Given the description of an element on the screen output the (x, y) to click on. 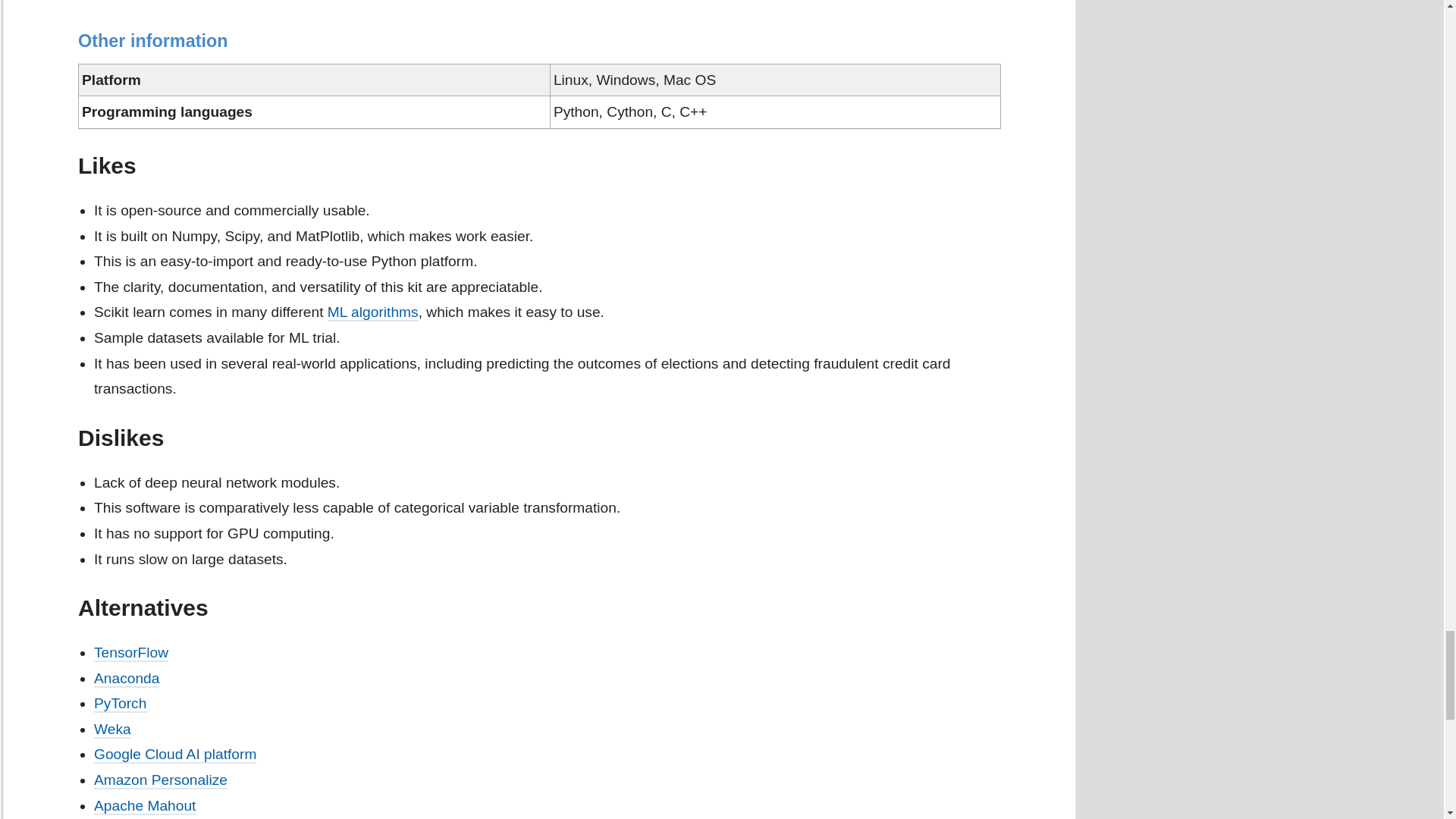
PyTorch (120, 703)
Weka (112, 729)
TensorFlow (131, 652)
Apache Mahout (144, 805)
Google Cloud AI platform (175, 754)
Anaconda (126, 678)
ML algorithms (373, 312)
Amazon Personalize (160, 780)
